Given the description of an element on the screen output the (x, y) to click on. 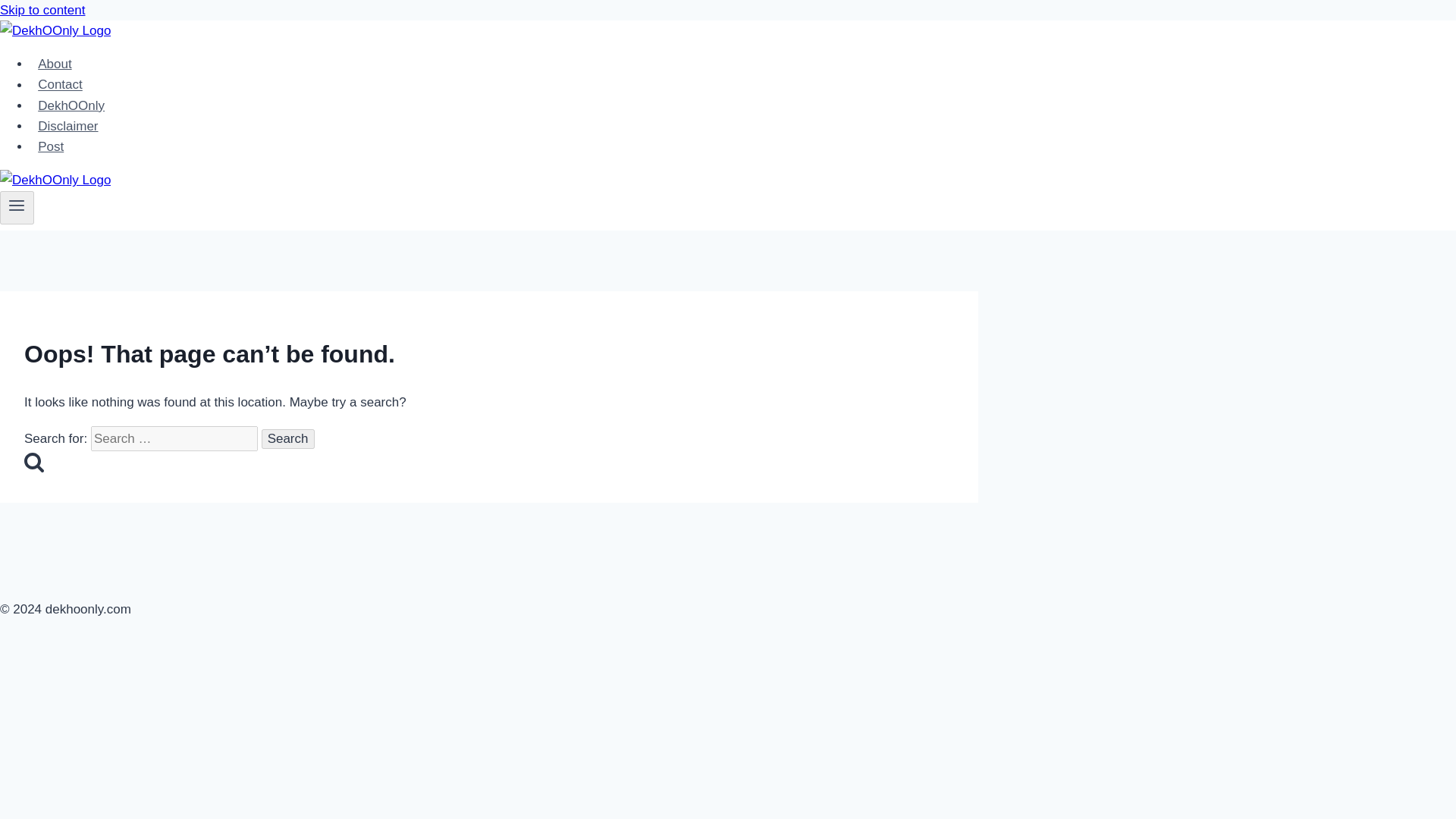
Search (288, 438)
DekhOOnly (71, 105)
Toggle Menu (16, 207)
Search (33, 461)
Search (288, 438)
Toggle Menu (16, 205)
Skip to content (42, 10)
Disclaimer (68, 125)
Search (288, 438)
About (55, 63)
